Given the description of an element on the screen output the (x, y) to click on. 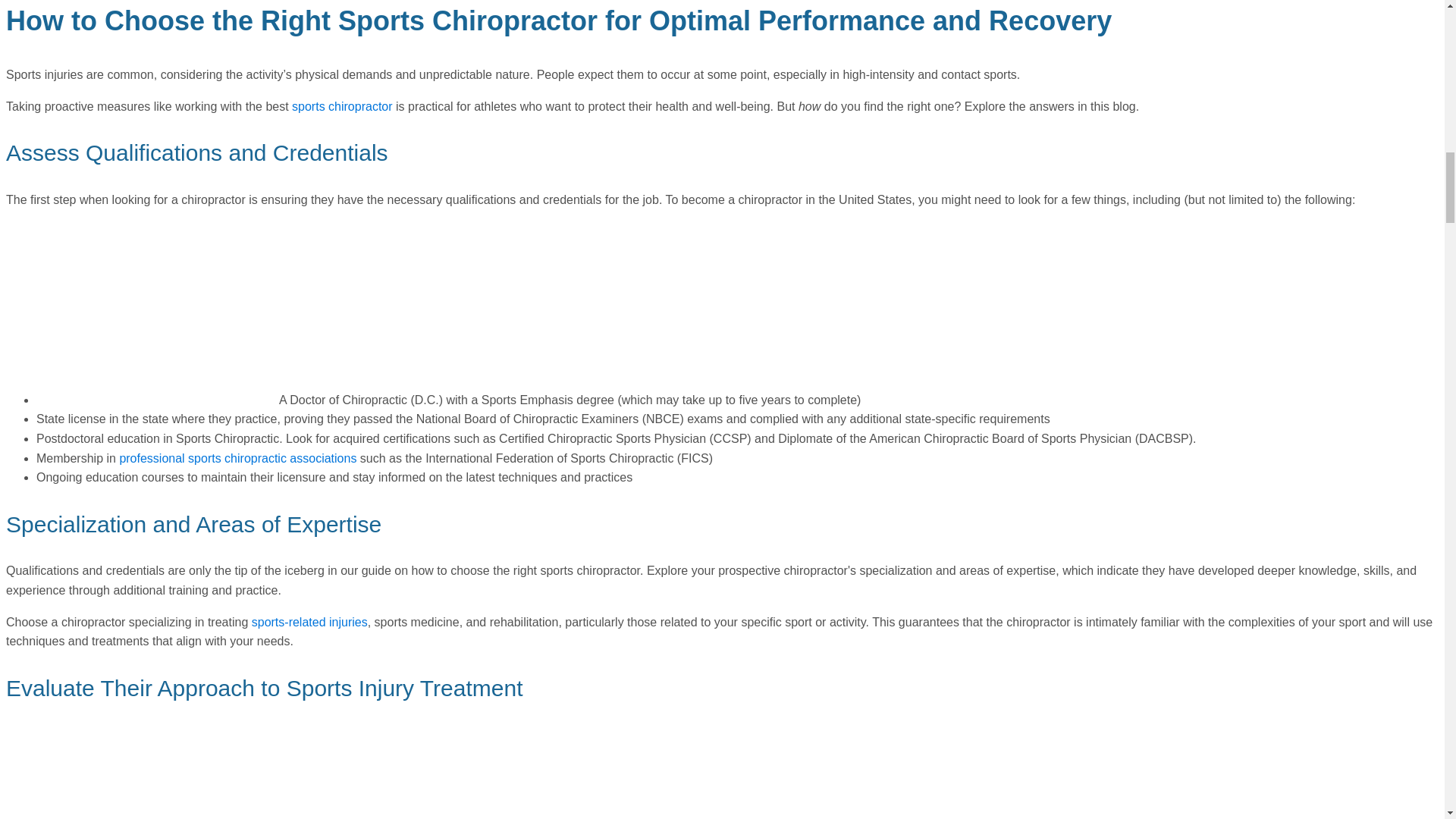
sports-related injuries (309, 621)
sports chiropractor (342, 106)
professional sports chiropractic associations (237, 458)
